Given the description of an element on the screen output the (x, y) to click on. 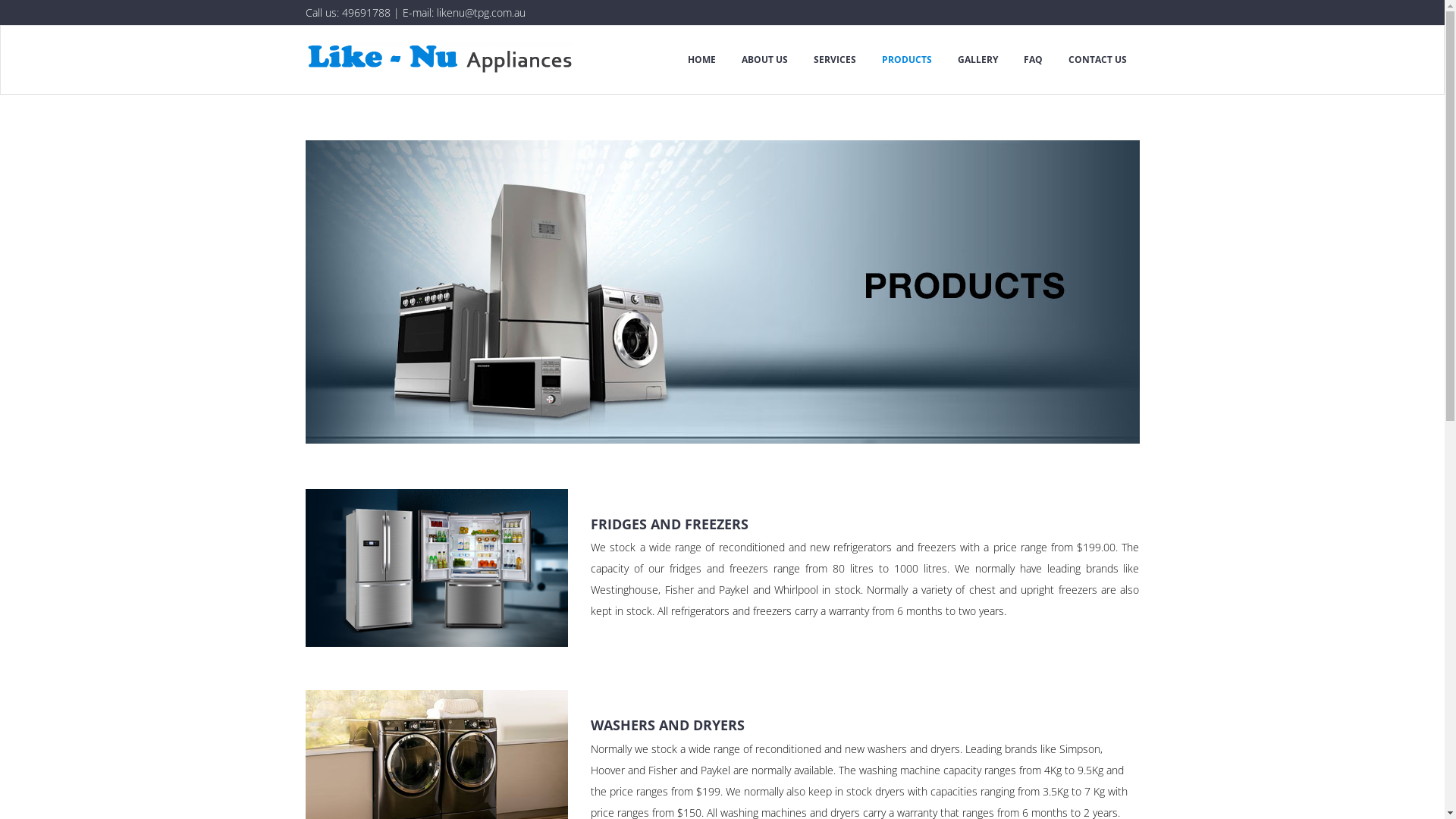
CONTACT US Element type: text (1097, 59)
ABOUT US Element type: text (764, 59)
HOME Element type: text (701, 59)
GALLERY Element type: text (977, 59)
FAQ Element type: text (1032, 59)
PRODUCTS Element type: text (906, 59)
SERVICES Element type: text (834, 59)
